Given the description of an element on the screen output the (x, y) to click on. 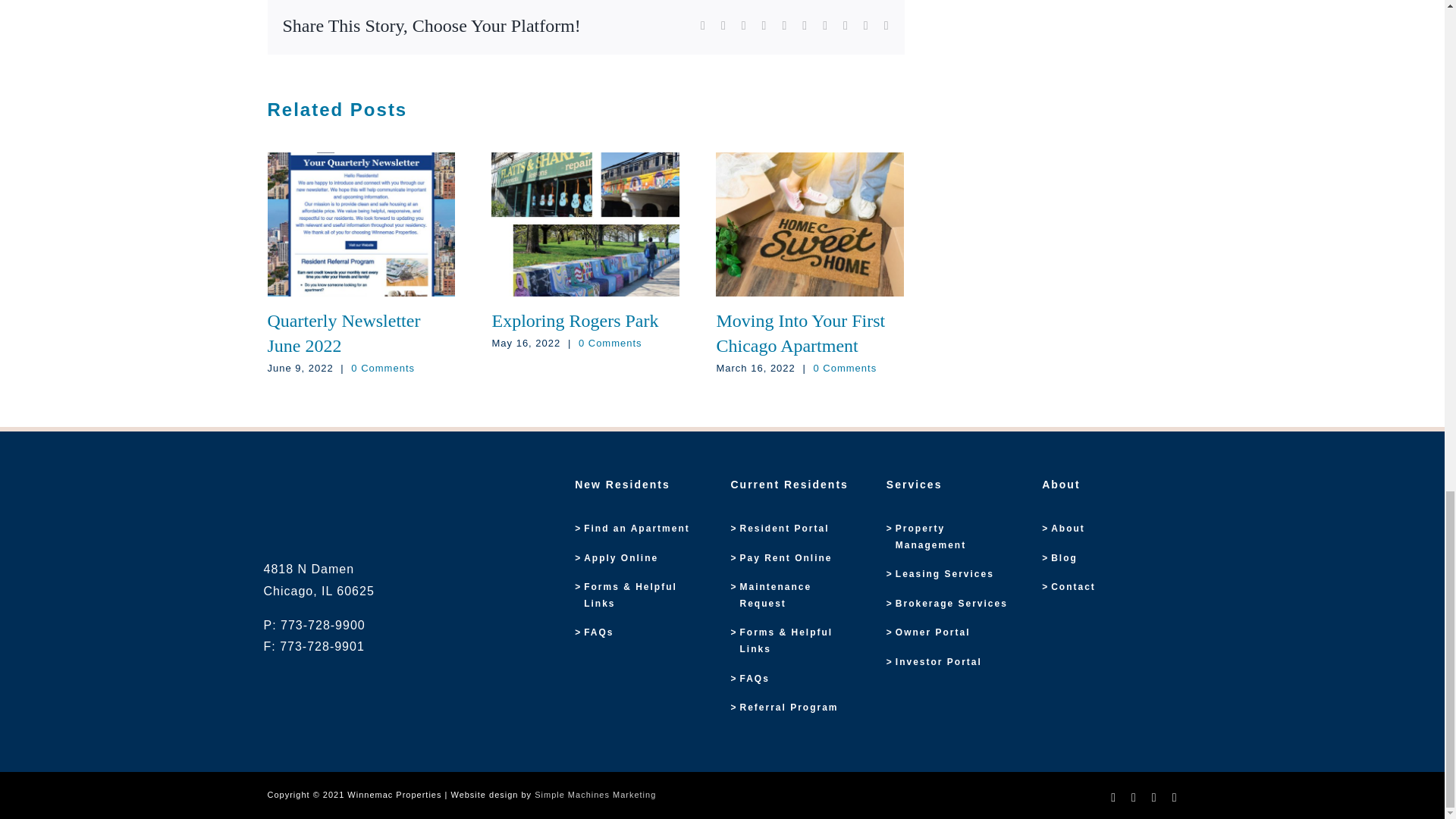
Exploring Rogers Park (575, 320)
Quarterly Newsletter June 2022 (343, 333)
Moving Into Your First Chicago Apartment (800, 333)
